Given the description of an element on the screen output the (x, y) to click on. 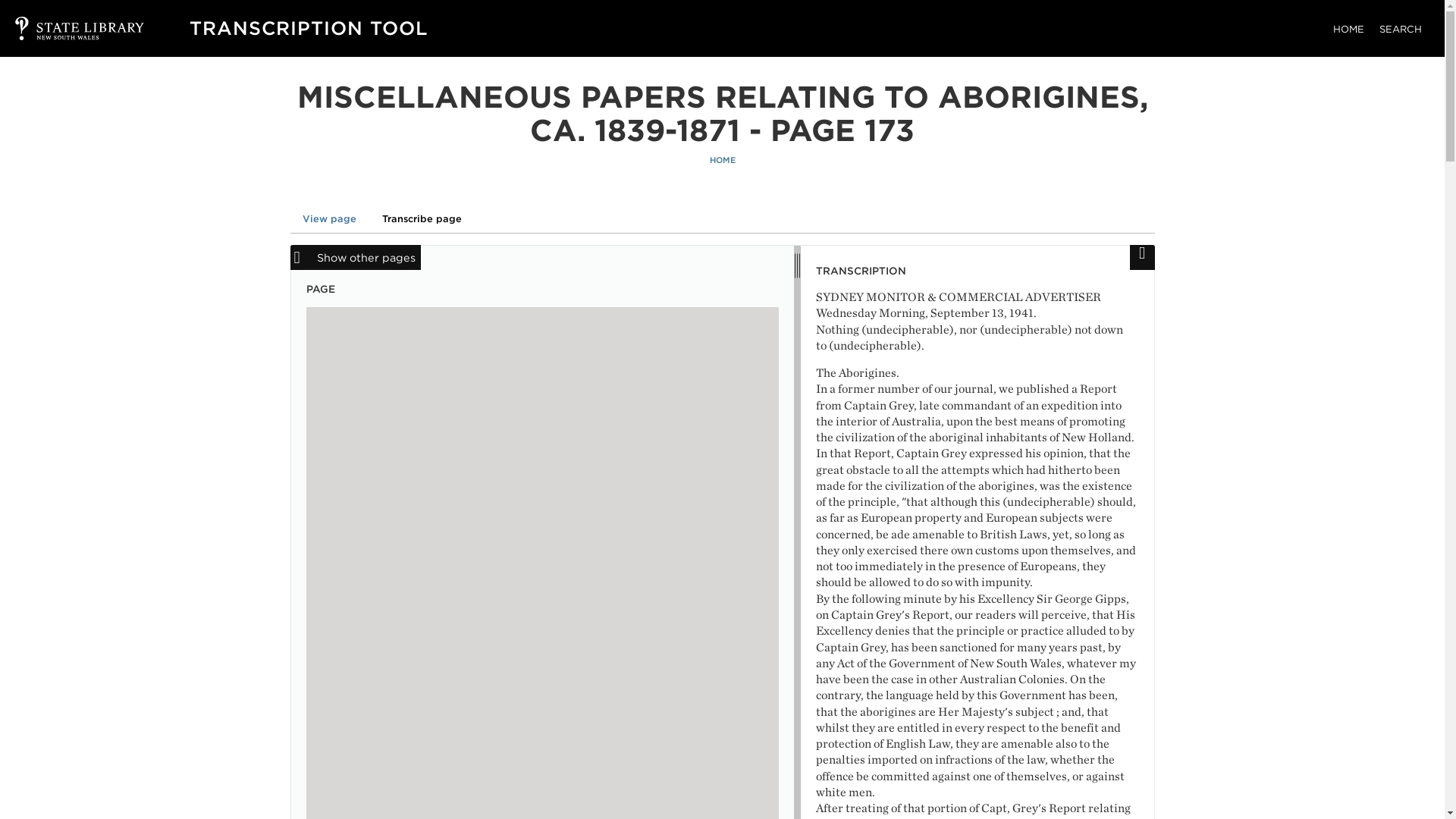
HOME (722, 160)
Home (308, 27)
HOME (1348, 29)
View page (328, 218)
Transcribe page (421, 218)
SEARCH (1400, 29)
TRANSCRIPTION TOOL (308, 27)
State Library of NSW (64, 28)
